Given the description of an element on the screen output the (x, y) to click on. 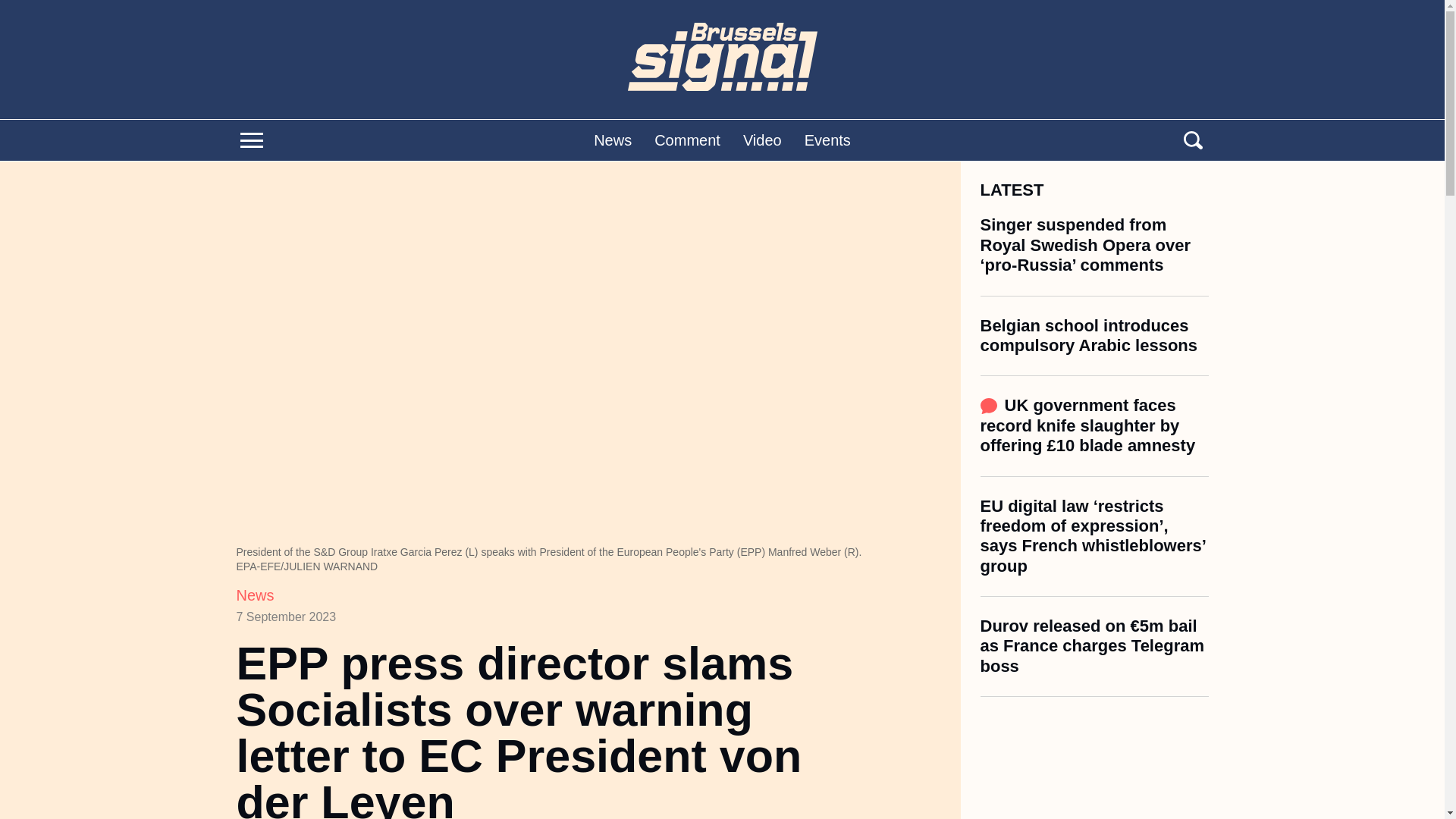
News (612, 140)
Comment (686, 140)
Events (827, 140)
Video (761, 140)
News (255, 595)
